Given the description of an element on the screen output the (x, y) to click on. 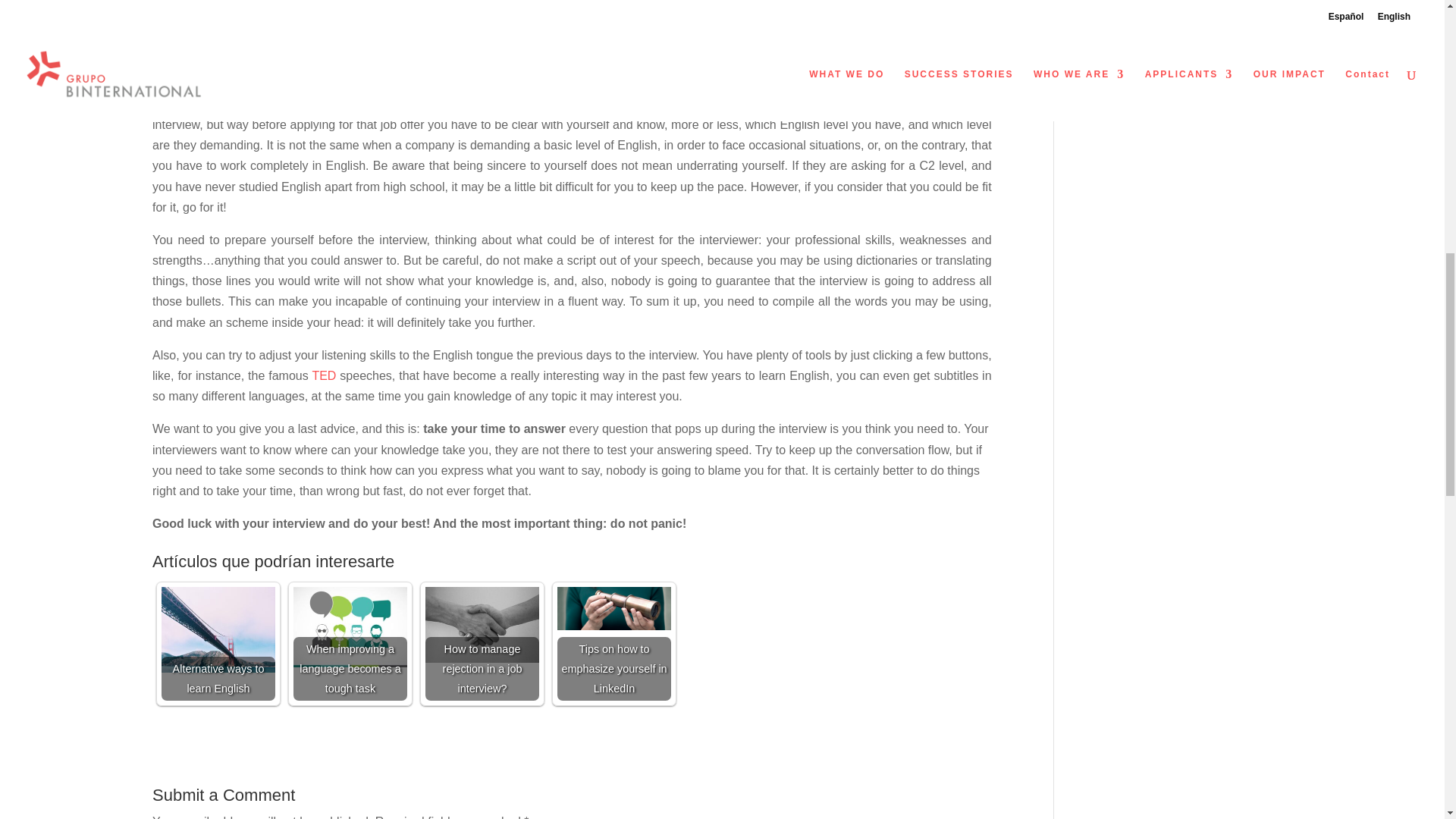
Tips on how to emphasize yourself in LinkedIn (614, 608)
TED (323, 375)
Tips on how to emphasize yourself in LinkedIn (614, 644)
How to manage rejection in a job interview? (481, 624)
When improving a language becomes a tough task (350, 627)
Alternative ways to learn English (218, 644)
How to manage rejection in a job interview? (481, 644)
Alternative ways to learn English (218, 629)
When improving a language becomes a tough task (350, 644)
